Given the description of an element on the screen output the (x, y) to click on. 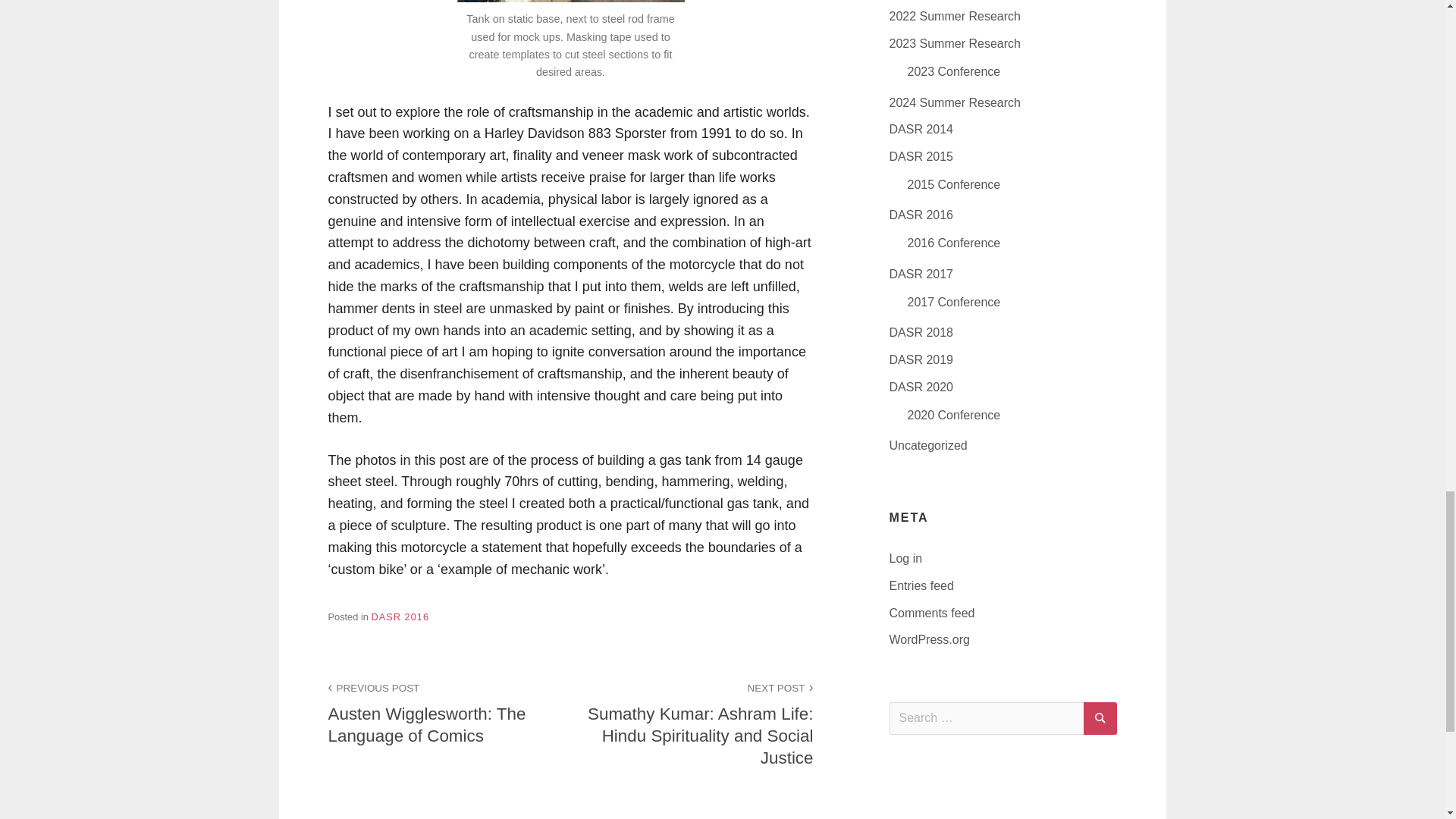
DASR 2016 (400, 616)
2023 Conference (953, 71)
2024 Summer Research (448, 711)
2022 Summer Research (954, 102)
2023 Summer Research (954, 15)
